Given the description of an element on the screen output the (x, y) to click on. 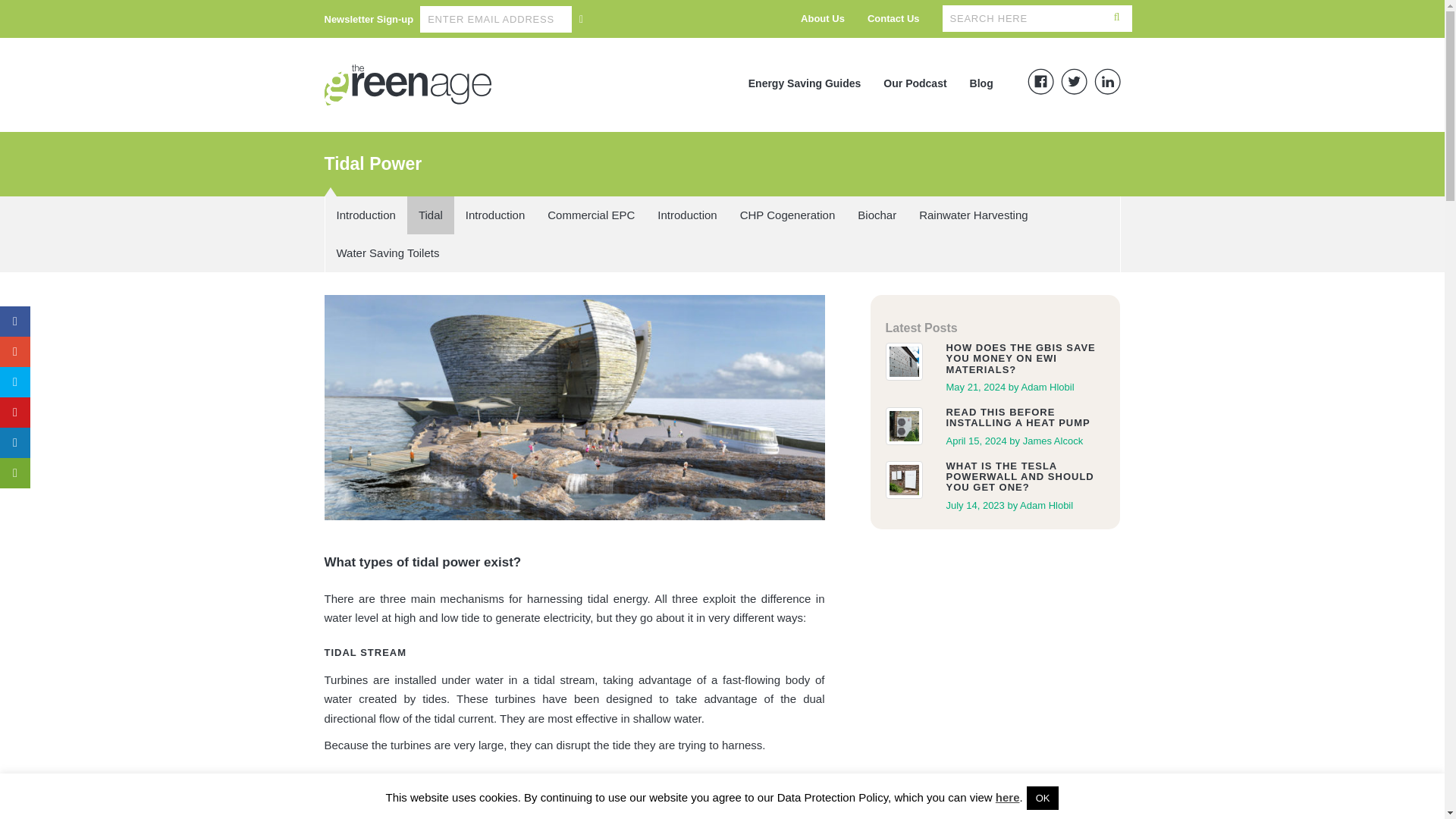
Biochar (876, 215)
Blog (981, 83)
Introduction (687, 215)
CHP Cogeneration (788, 215)
CHP Cogeneration (788, 215)
TheGreenAge (408, 84)
Our Podcast (915, 83)
About Us (822, 18)
Introduction (494, 215)
Energy Saving Guides (804, 83)
Tidal (430, 215)
Introduction (365, 215)
HOW DOES THE GBIS SAVE YOU MONEY ON EWI MATERIALS? (1024, 359)
Introduction (687, 215)
Tidal (430, 215)
